Given the description of an element on the screen output the (x, y) to click on. 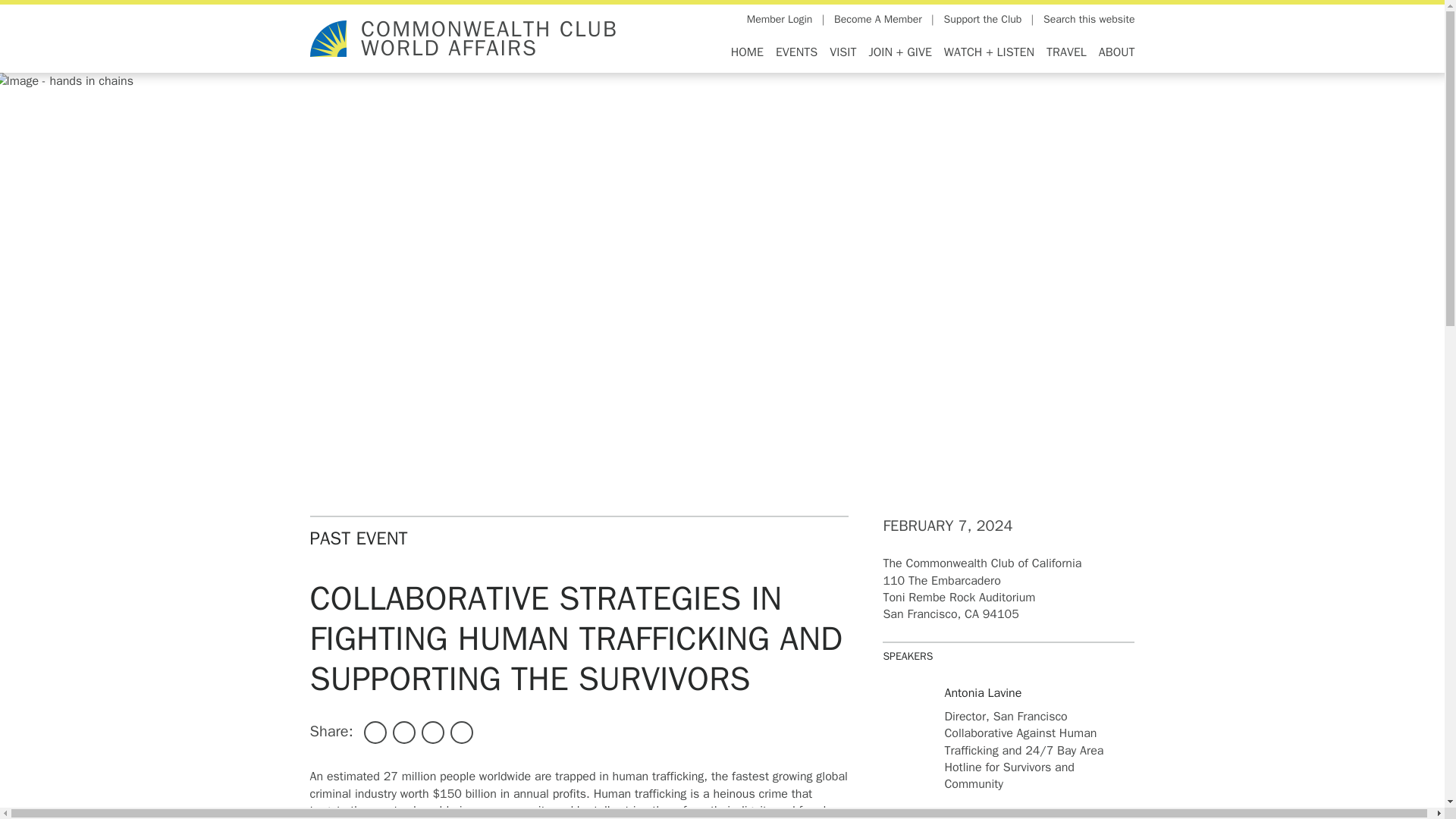
Share to Linkedin (433, 732)
Share to Facebook (375, 732)
Support the Club (982, 19)
Visit the Club (842, 51)
Search this website (1089, 19)
EVENTS (797, 51)
Share to X (403, 732)
COMMONWEALTH CLUB WORLD AFFAIRS (489, 38)
HOME (747, 51)
About (1114, 51)
VISIT (842, 51)
Share to Email (461, 732)
Member Login (779, 19)
